Given the description of an element on the screen output the (x, y) to click on. 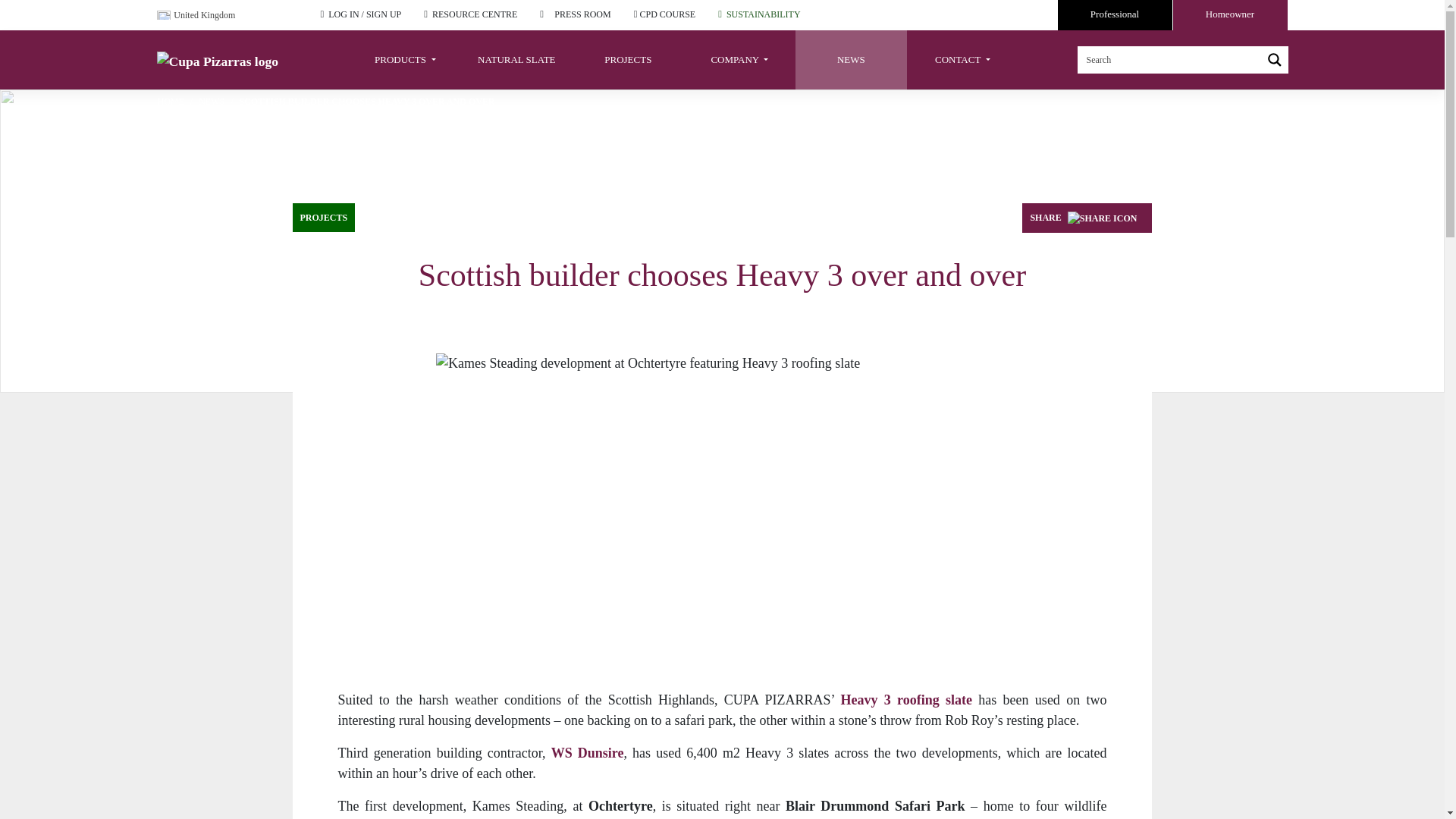
RESOURCE CENTRE (474, 14)
PRESS ROOM (582, 14)
Homeowner (1229, 15)
NATURAL SLATE (516, 59)
PRODUCTS (405, 59)
CPD COURSE (667, 14)
PRODUCTS (405, 59)
Professional (1114, 15)
SUSTAINABILITY (763, 14)
PROJECTS (628, 59)
